Given the description of an element on the screen output the (x, y) to click on. 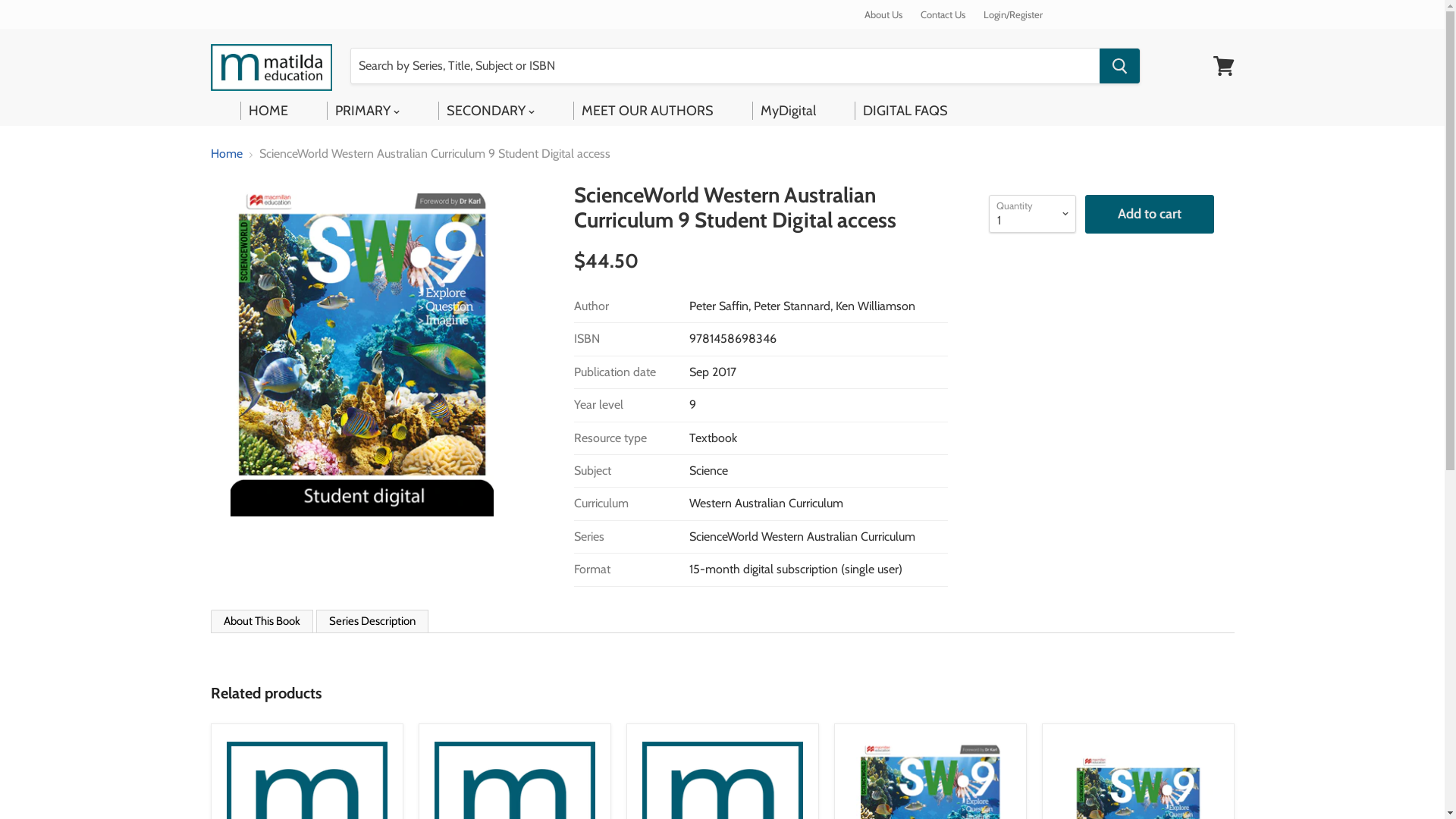
Contact Us Element type: text (942, 14)
MyDigital Element type: text (789, 110)
Home Element type: text (226, 153)
Series Description Element type: text (371, 621)
Login/Register Element type: text (1012, 14)
SECONDARY Element type: text (492, 110)
About This Book Element type: text (261, 620)
HOME Element type: text (268, 110)
About Us Element type: text (883, 14)
DIGITAL FAQS Element type: text (905, 110)
PRIMARY Element type: text (368, 110)
View cart Element type: text (1223, 65)
MEET OUR AUTHORS Element type: text (648, 110)
Add to cart Element type: text (1148, 213)
